Given the description of an element on the screen output the (x, y) to click on. 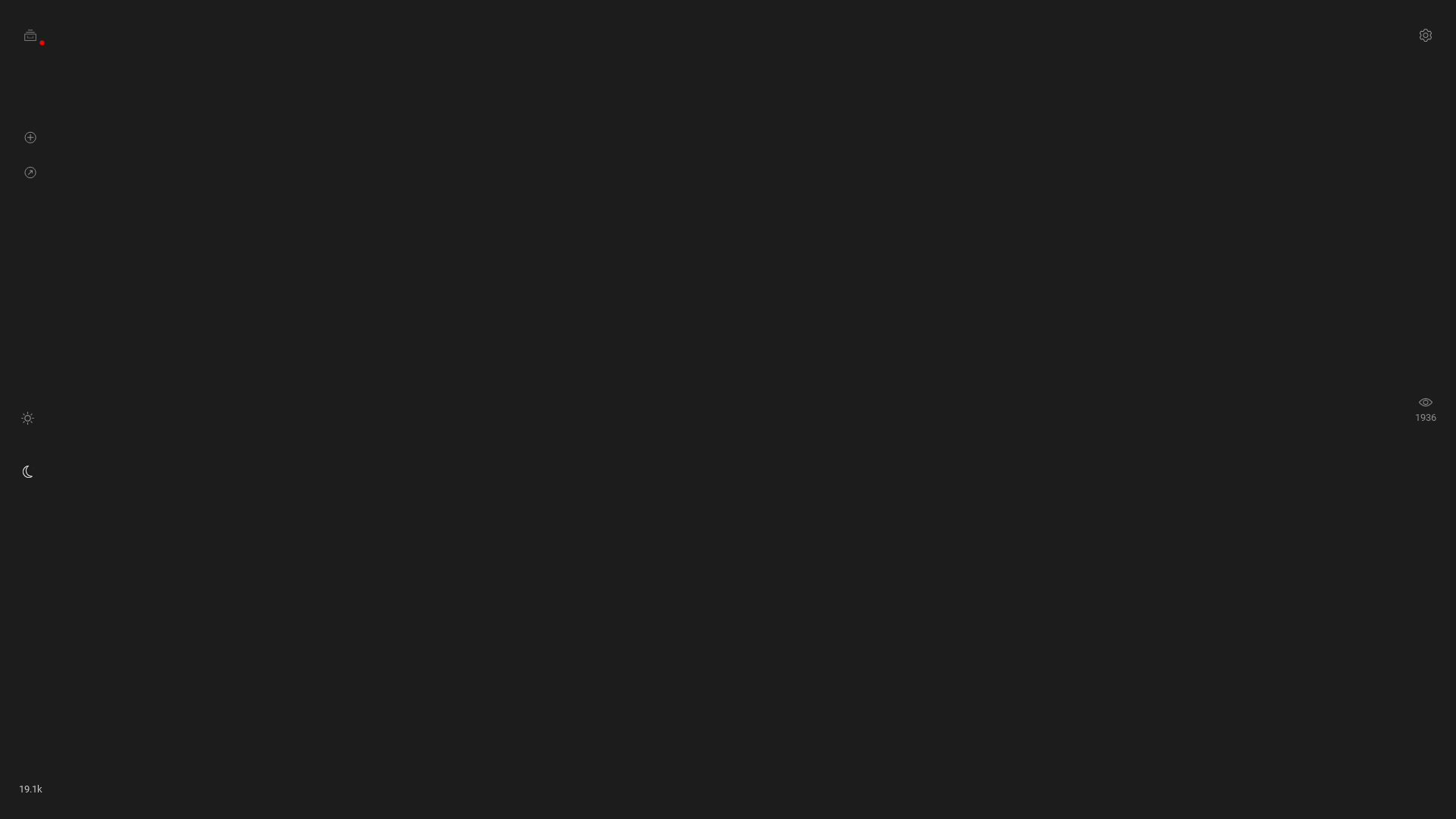
Light Mode Element type: hover (27, 417)
Drawer Element type: hover (30, 34)
Dark Mode Element type: hover (27, 471)
Copy Litenote Element type: hover (30, 171)
New Litenote Element type: hover (30, 136)
Not logged in Element type: hover (41, 42)
